Given the description of an element on the screen output the (x, y) to click on. 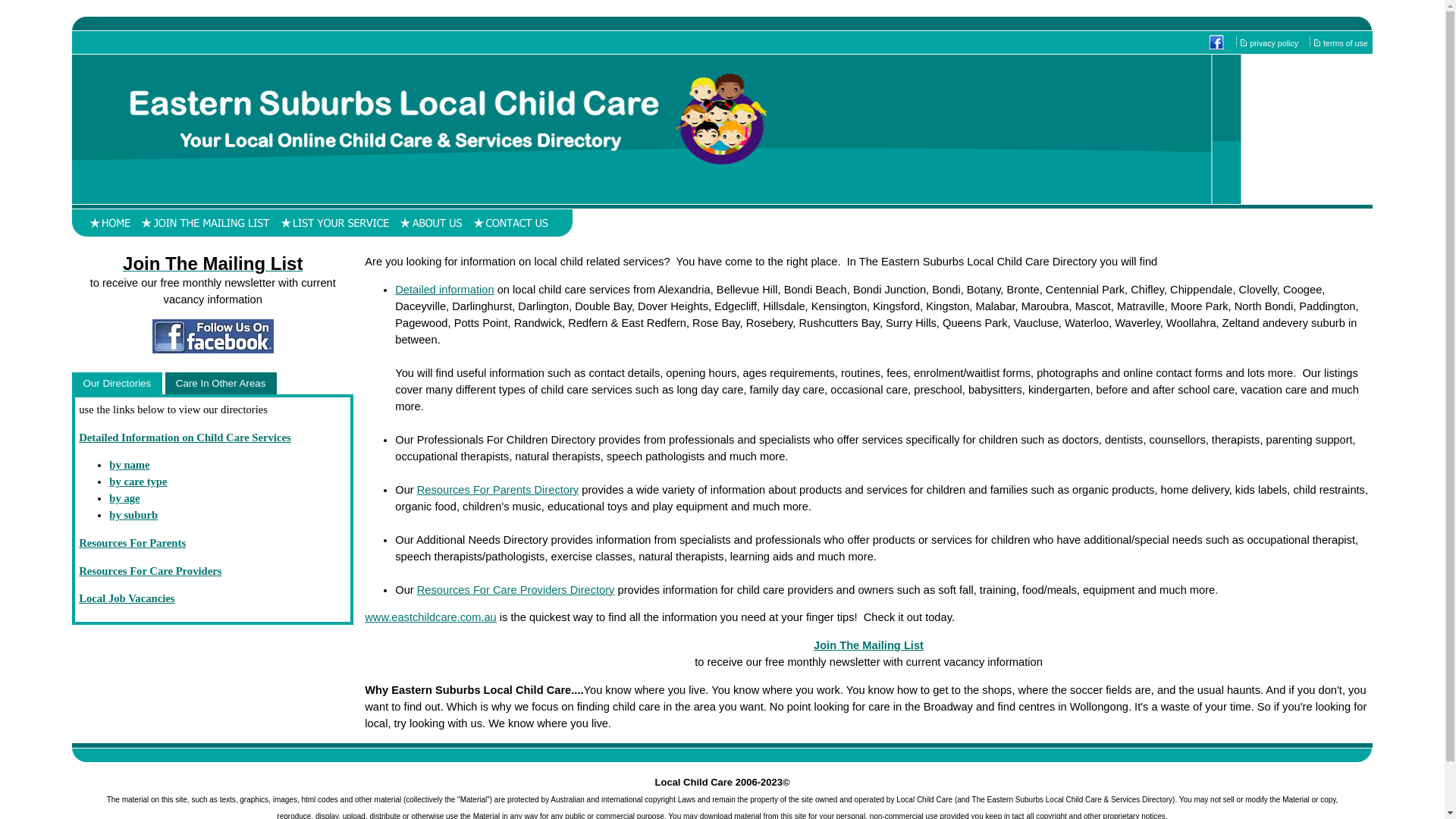
Care In Other Areas Element type: text (220, 383)
Our Directories Element type: text (116, 383)
Join The Mailing List Element type: text (212, 266)
by age Element type: text (124, 498)
Resources For Parents Directory Element type: text (497, 489)
Detailed information Element type: text (444, 289)
Detailed Information on Child Care Services Element type: text (184, 437)
by suburb Element type: text (133, 514)
by care type Element type: text (137, 481)
Local Job Vacancies Element type: text (126, 598)
www.eastchildcare.com.au Element type: text (430, 617)
Resources For Care Providers Directory Element type: text (516, 589)
Resources For Care Providers Element type: text (149, 570)
privacy policy Element type: text (1274, 43)
terms of use Element type: text (1346, 43)
Join The Mailing List Element type: text (868, 645)
Resources For Parents Element type: text (131, 542)
by name Element type: text (129, 464)
